Given the description of an element on the screen output the (x, y) to click on. 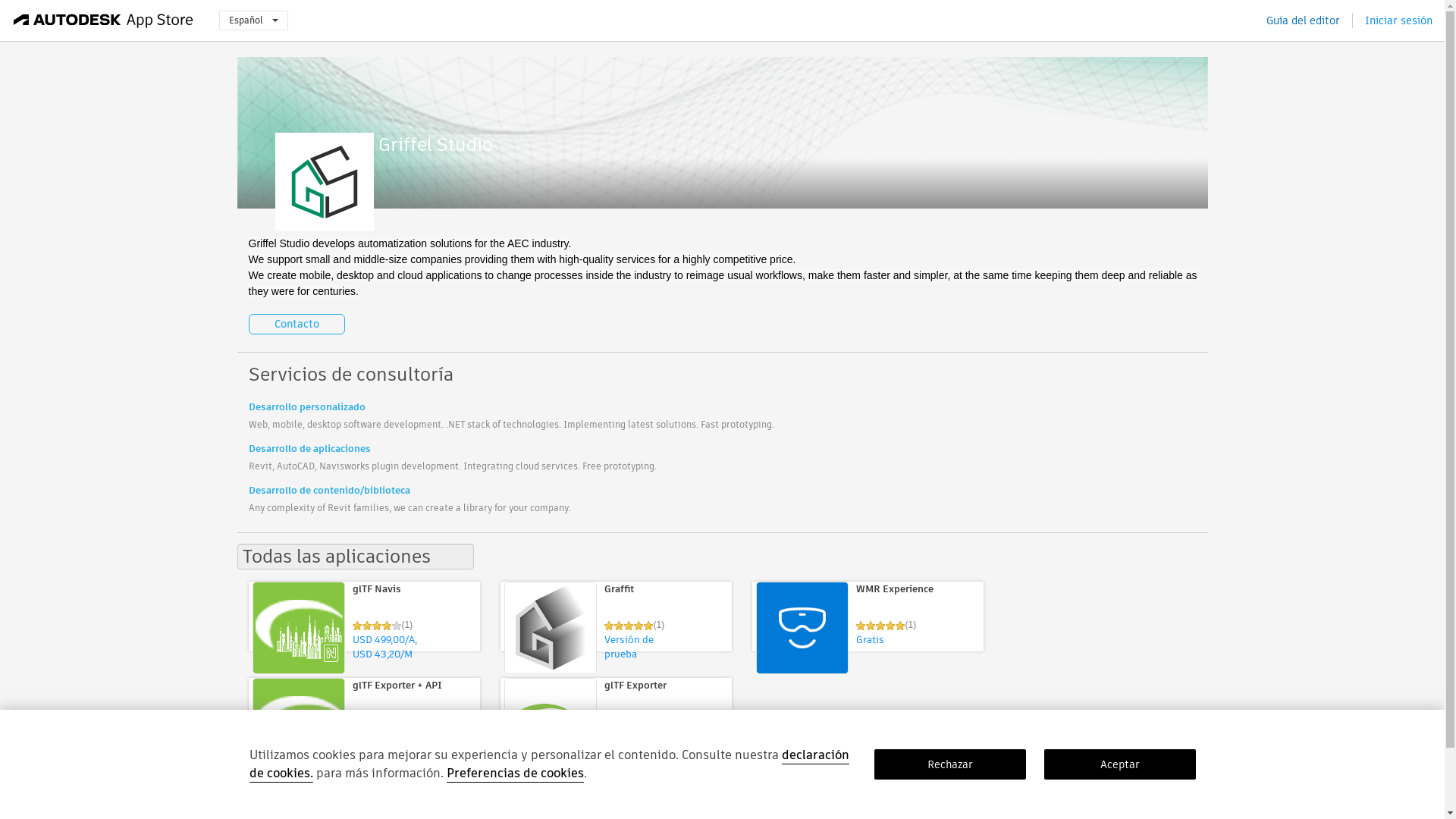
Preg. frecuentes (601, 800)
Condiciones de uso (469, 800)
Av. legales y marcas com. (369, 800)
Contacto (296, 323)
Todas las aplicaciones (354, 556)
Dir. privacidad (278, 800)
Autodesk App Store (103, 20)
Griffel Studio (491, 144)
Contacto (662, 800)
